Given the description of an element on the screen output the (x, y) to click on. 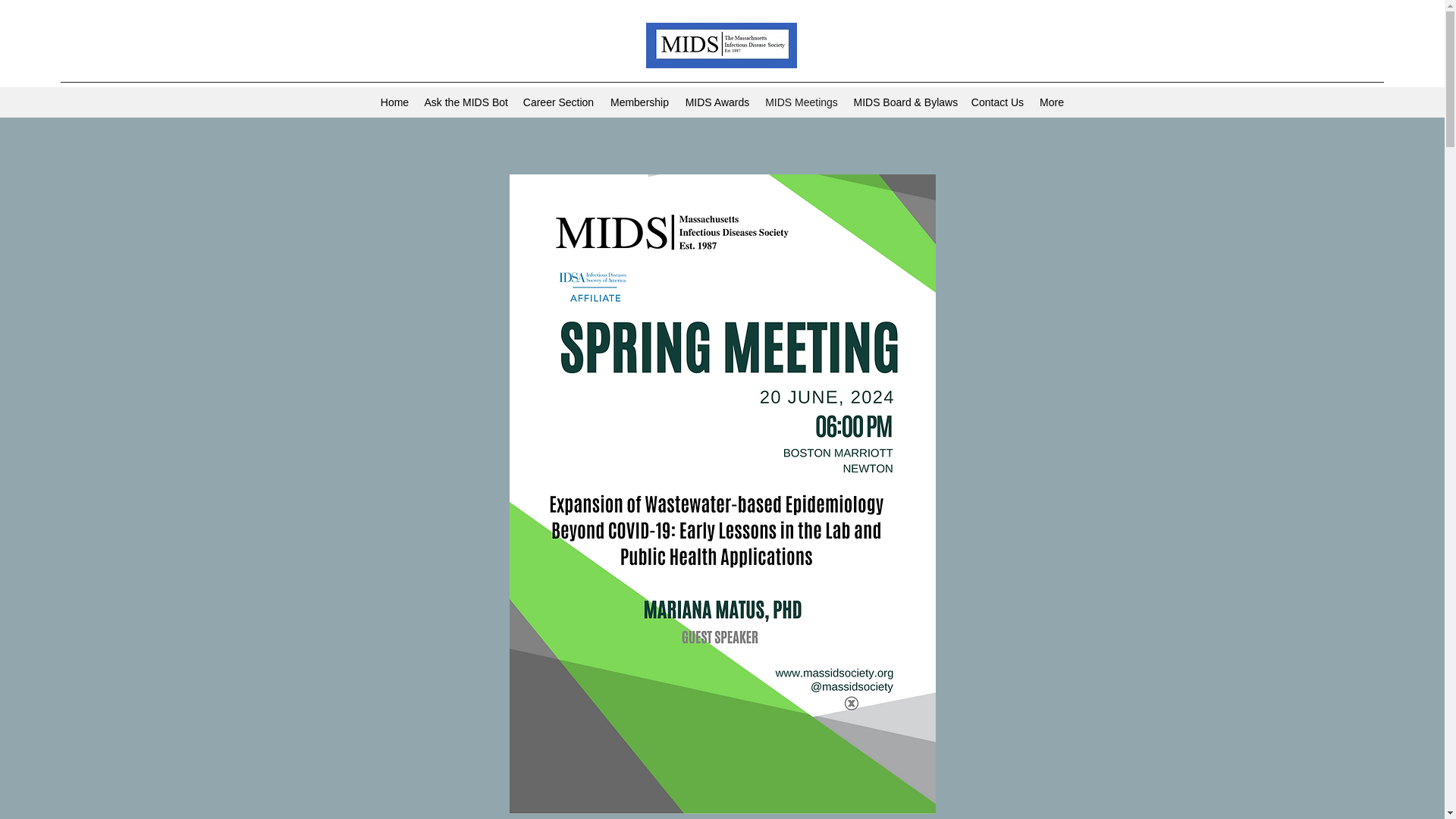
Membership (639, 101)
Ask the MIDS Bot (465, 101)
Home (394, 101)
Career Section (558, 101)
Contact Us (996, 101)
MIDS Meetings (801, 101)
MIDS Awards (717, 101)
